Given the description of an element on the screen output the (x, y) to click on. 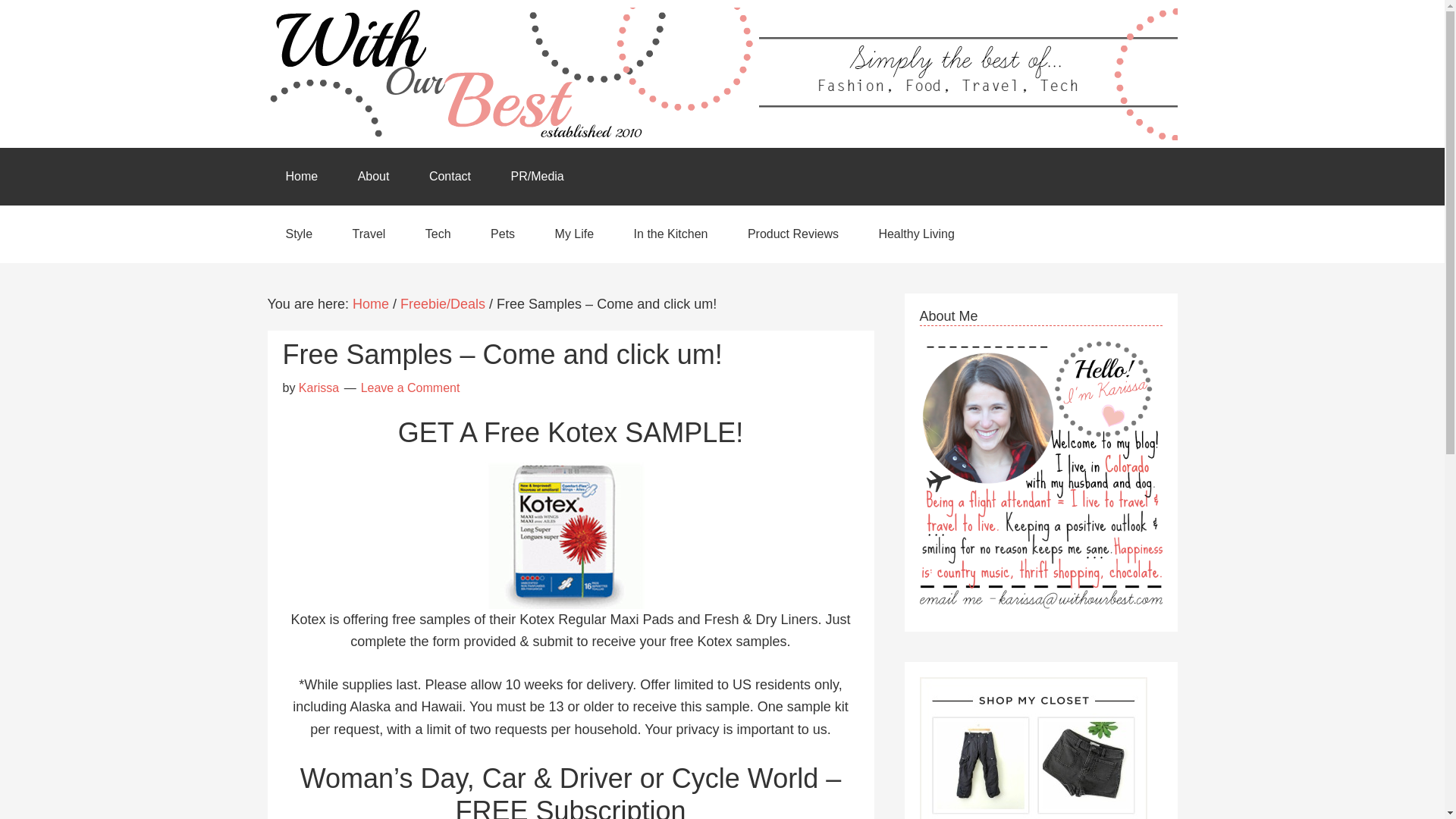
Home (370, 304)
Contact (449, 176)
image (570, 533)
With Our Best - Denver Lifestyle Blog (721, 73)
Healthy Living (916, 233)
Leave a Comment (410, 387)
In the Kitchen (670, 233)
My Life (574, 233)
Product Reviews (793, 233)
Karissa (318, 387)
